Given the description of an element on the screen output the (x, y) to click on. 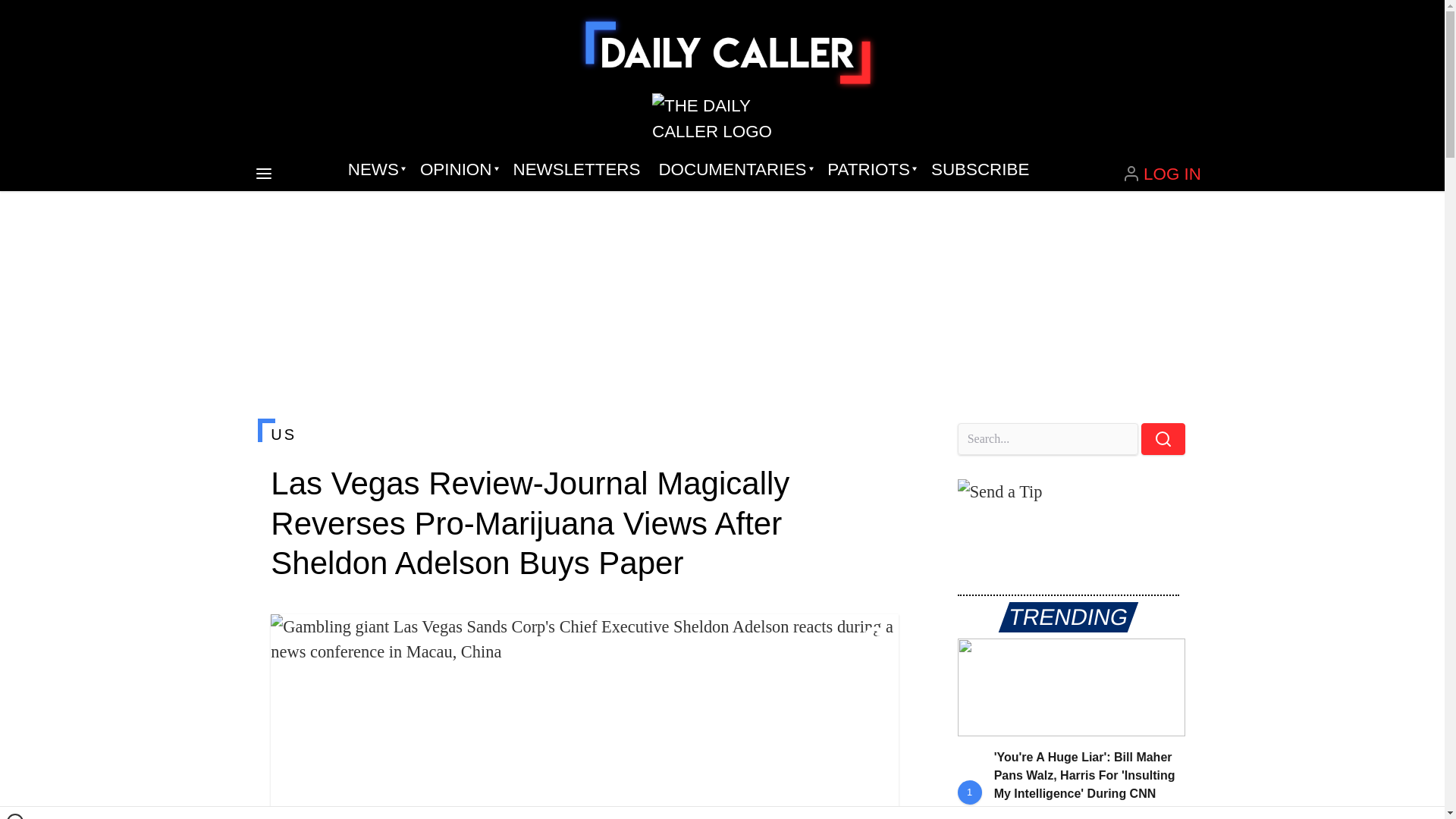
SUBSCRIBE (979, 169)
Toggle fullscreen (874, 637)
OPINION (456, 169)
Close window (14, 816)
US (584, 434)
NEWSLETTERS (576, 169)
NEWS (374, 169)
DOCUMENTARIES (733, 169)
PATRIOTS (869, 169)
